Given the description of an element on the screen output the (x, y) to click on. 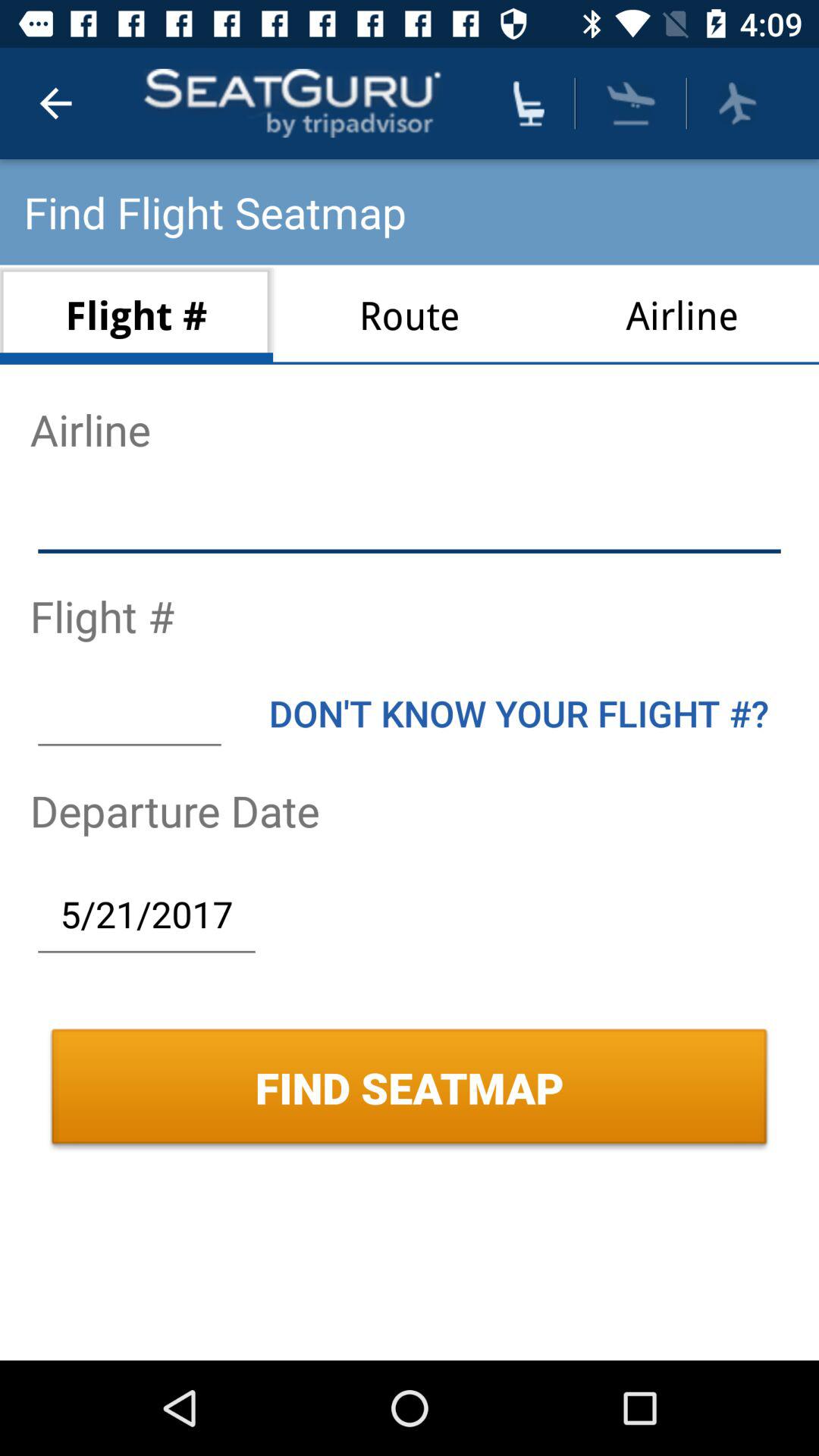
press the 5/21/2017 (146, 913)
